Given the description of an element on the screen output the (x, y) to click on. 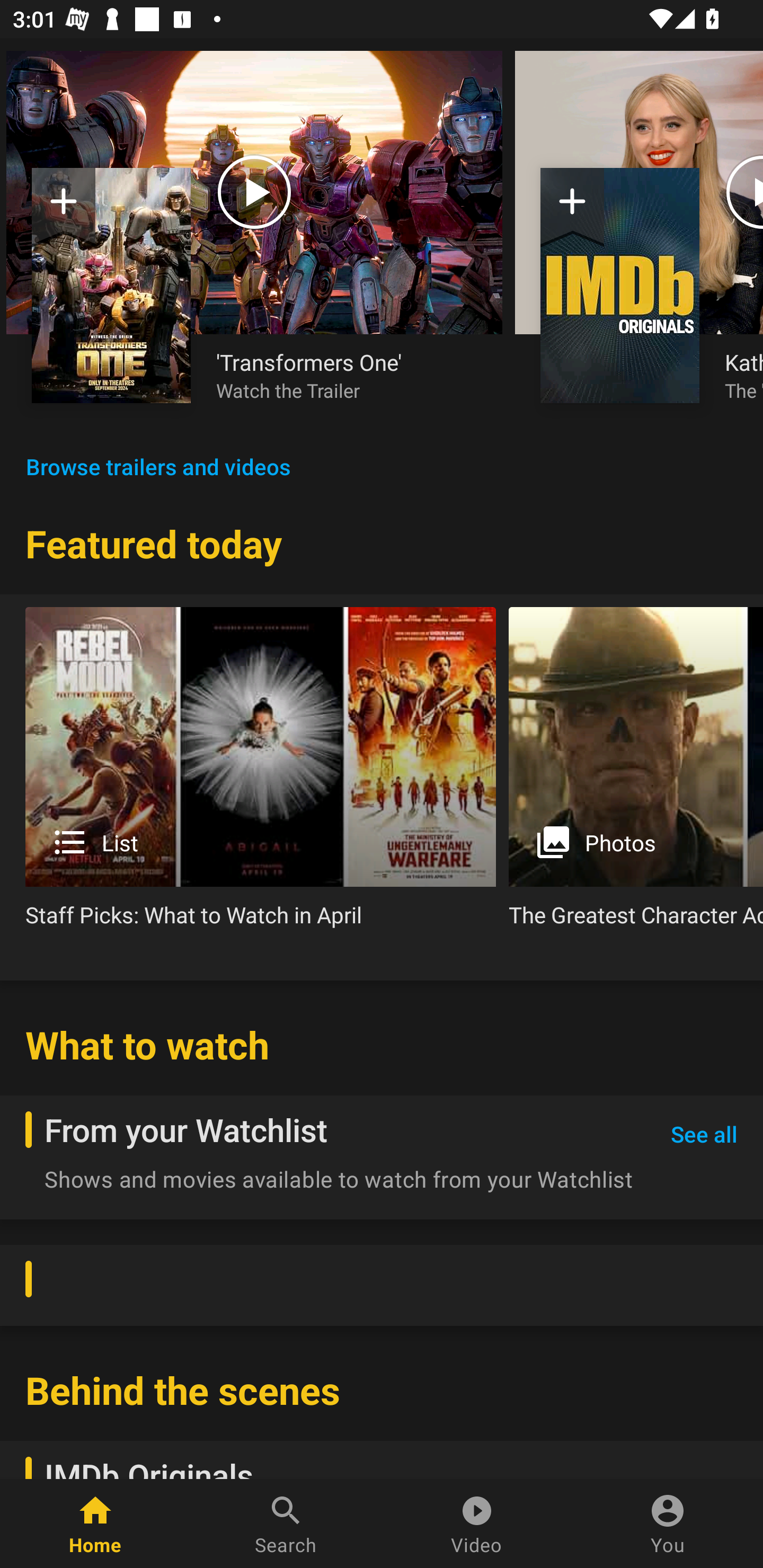
Not in watchlist (111, 284)
Not in watchlist (63, 207)
Not in watchlist (619, 284)
Not in watchlist (572, 207)
'Transformers One' Watch the Trailer (345, 374)
List Staff Picks: What to Watch in April (260, 774)
Photos The Greatest Character Actors of All Time (635, 774)
See all See all From your Watchlist (703, 1134)
Search (285, 1523)
Video (476, 1523)
You (667, 1523)
